Given the description of an element on the screen output the (x, y) to click on. 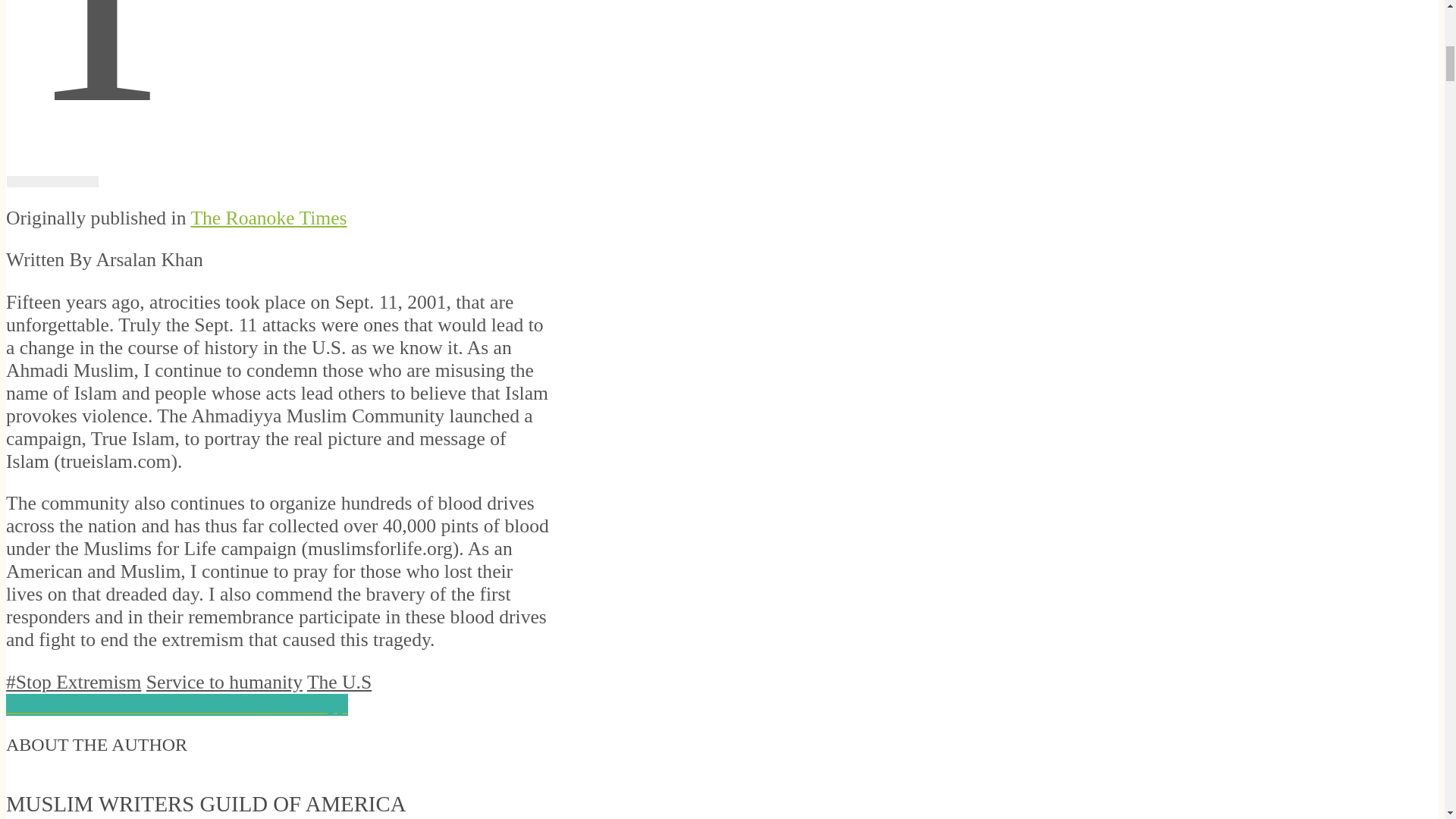
LinkedIn (228, 704)
The U.S (339, 681)
Facebook (43, 704)
Reddit (121, 704)
The Roanoke Times (268, 218)
WhatsApp (305, 704)
Email (170, 704)
Service to humanity (224, 681)
